Given the description of an element on the screen output the (x, y) to click on. 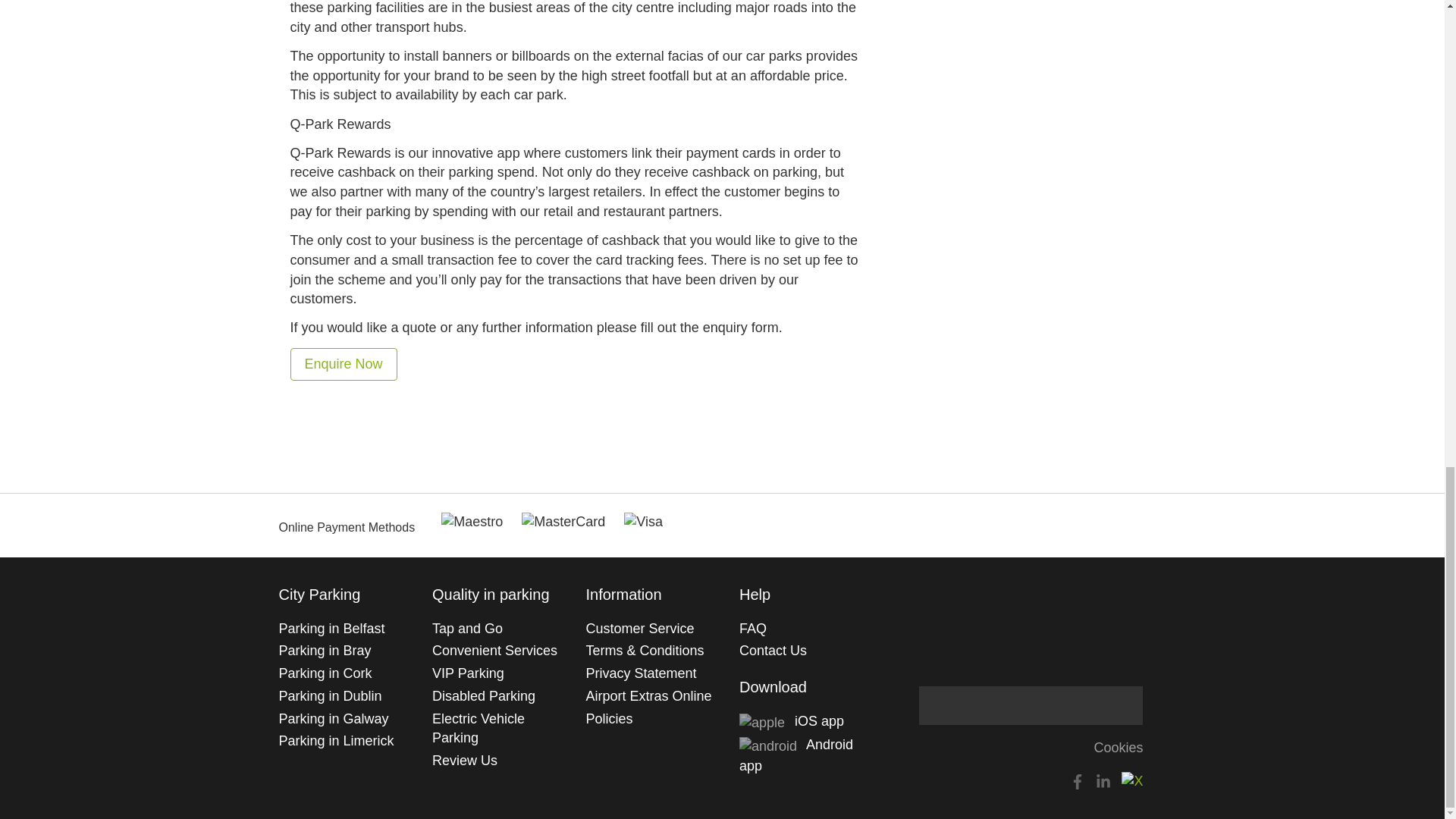
Enquire Now (343, 363)
Visa (643, 522)
MasterCard (563, 522)
Maestro (471, 522)
